Given the description of an element on the screen output the (x, y) to click on. 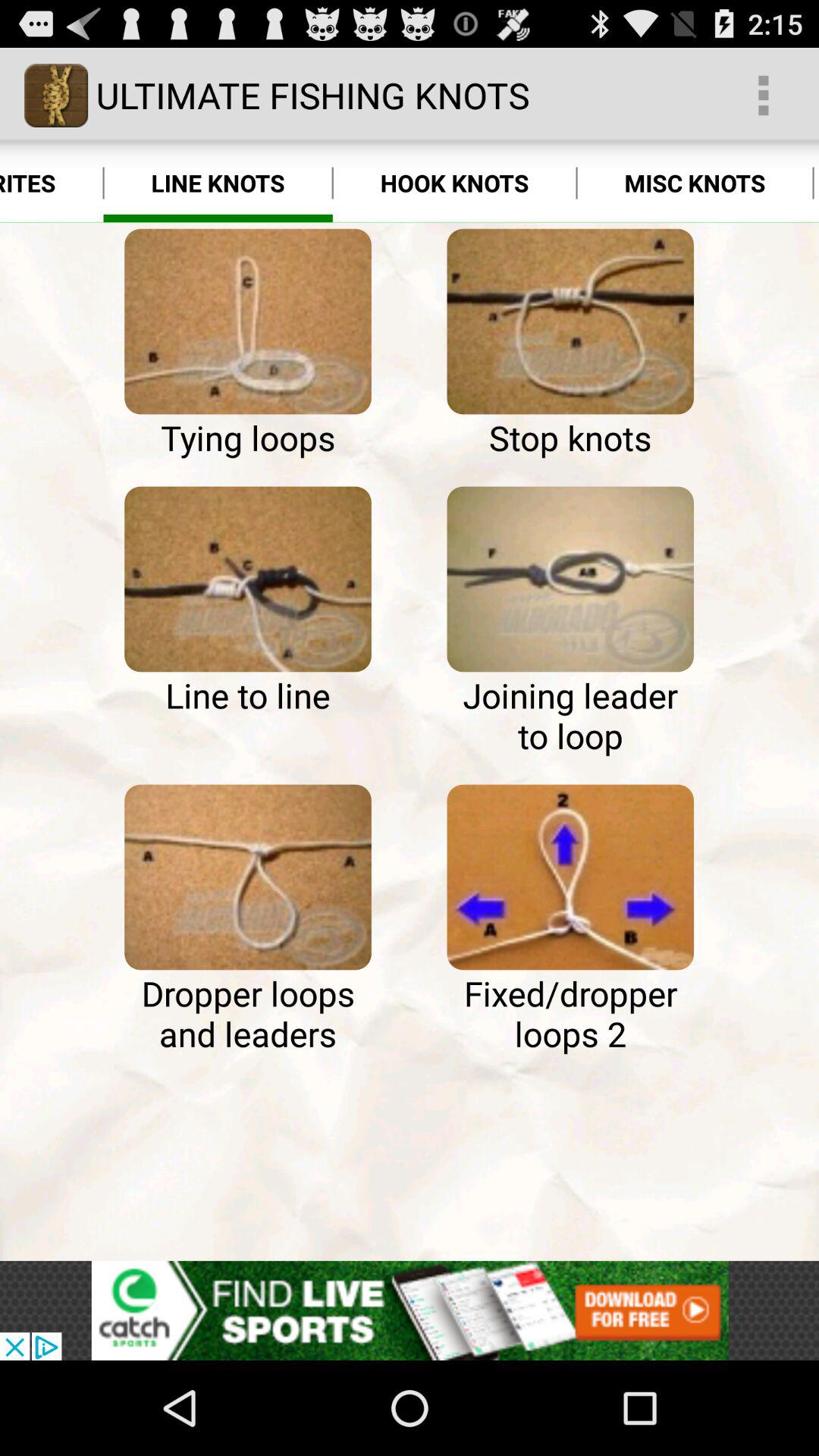
typing of the option (247, 321)
